Given the description of an element on the screen output the (x, y) to click on. 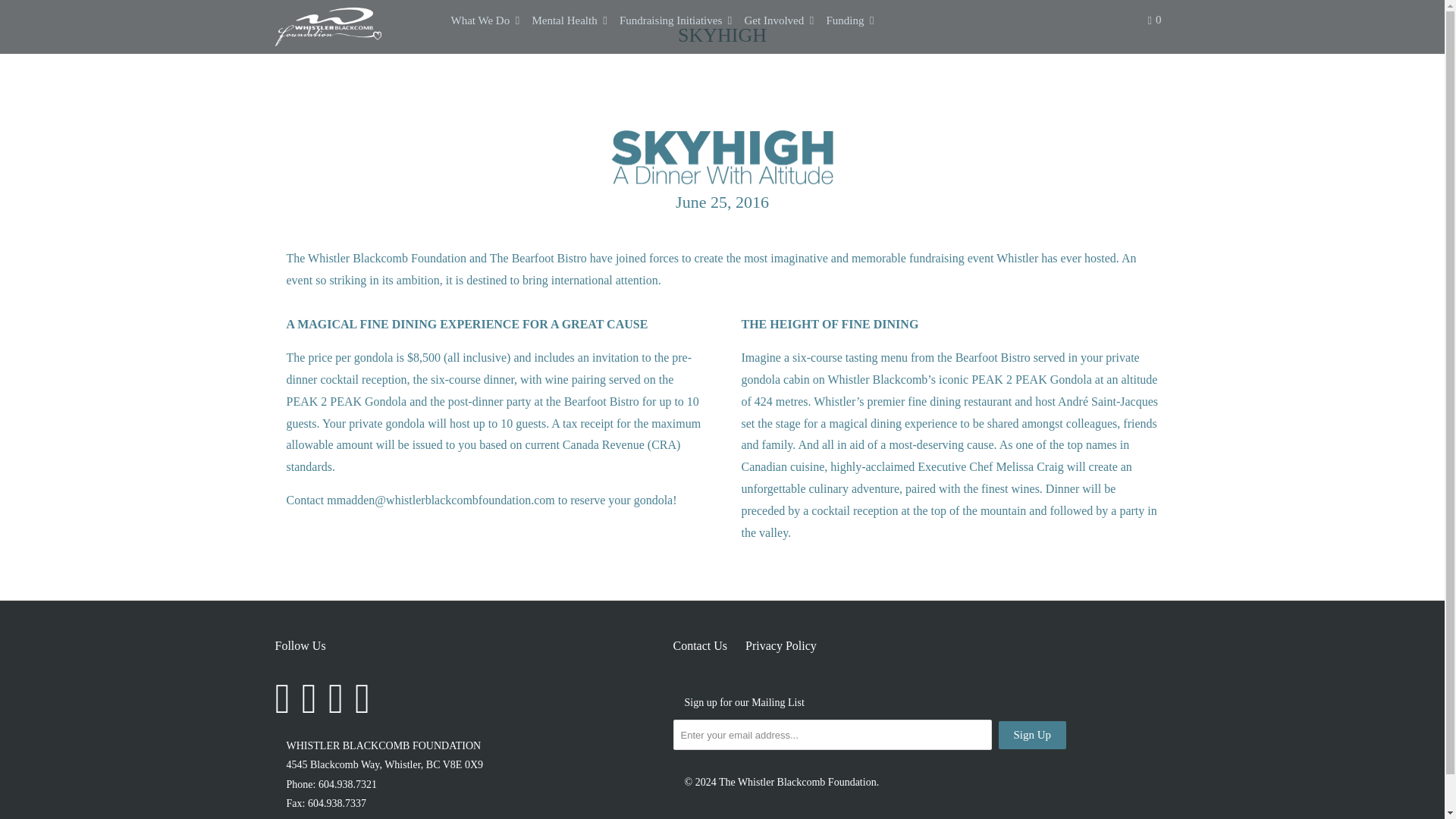
Mental Health   (569, 20)
The Whistler Blackcomb Foundation (352, 26)
What We Do   (485, 20)
Sign Up (1031, 735)
Funding   (850, 20)
Fundraising Initiatives   (675, 20)
Get Involved   (780, 20)
